Given the description of an element on the screen output the (x, y) to click on. 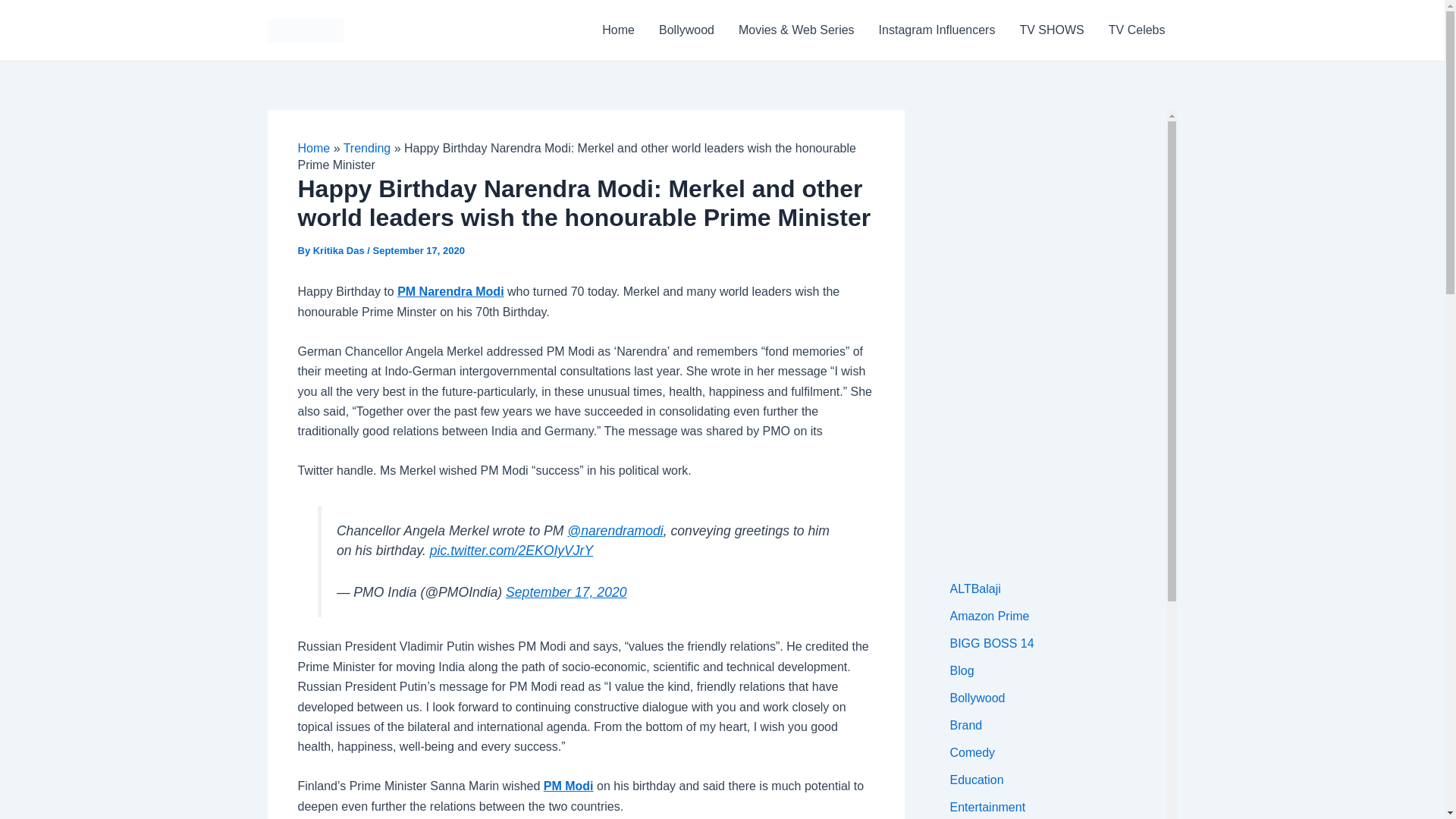
TV Celebs (1136, 30)
PM Narendra Modi (450, 291)
View all posts by Kritika Das (340, 250)
Trending (367, 147)
Home (313, 147)
TV SHOWS (1051, 30)
Instagram Influencers (936, 30)
Home (617, 30)
September 17, 2020 (565, 591)
Bollywood (686, 30)
